Given the description of an element on the screen output the (x, y) to click on. 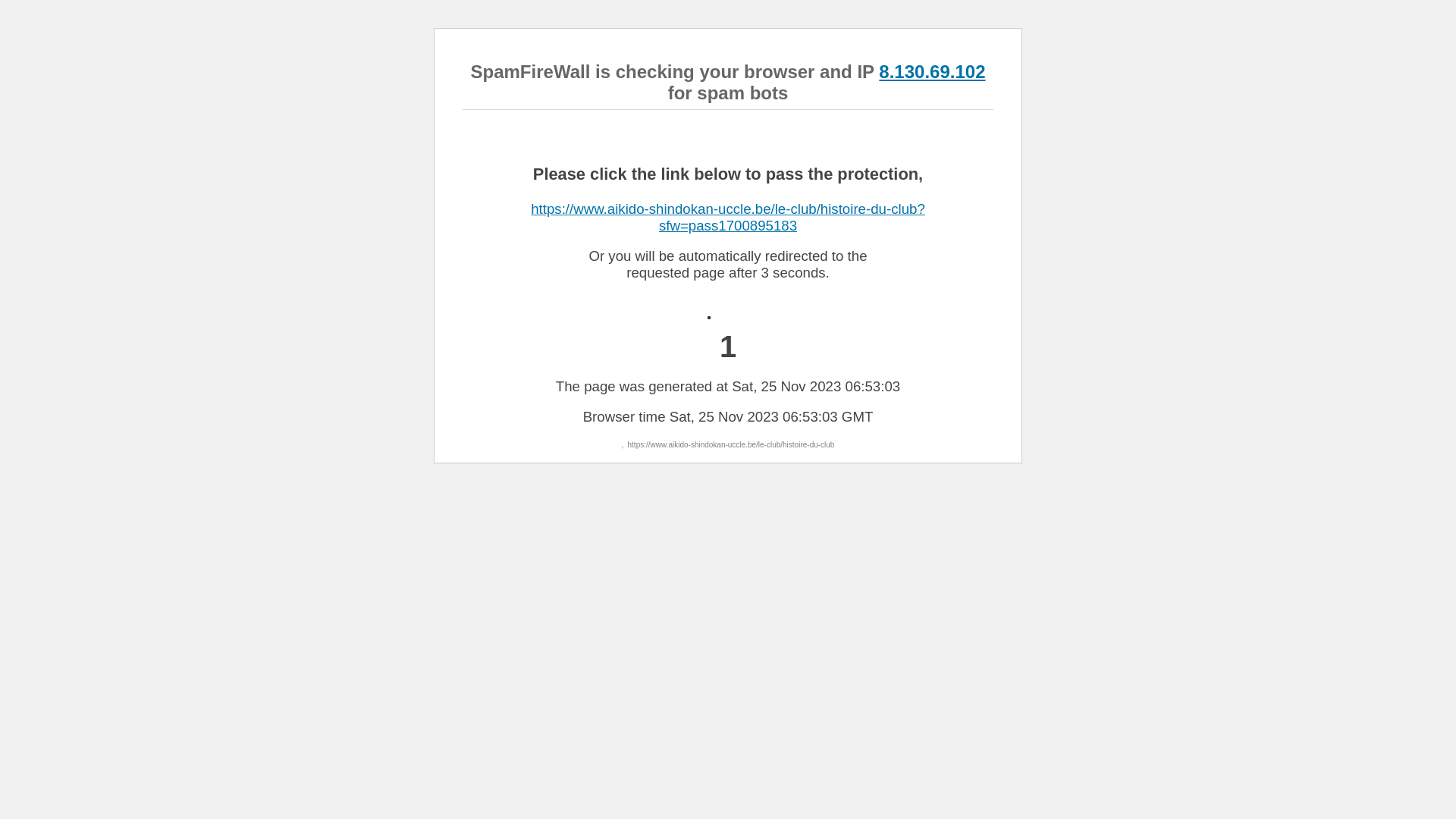
8.130.69.102 Element type: text (931, 71)
